Given the description of an element on the screen output the (x, y) to click on. 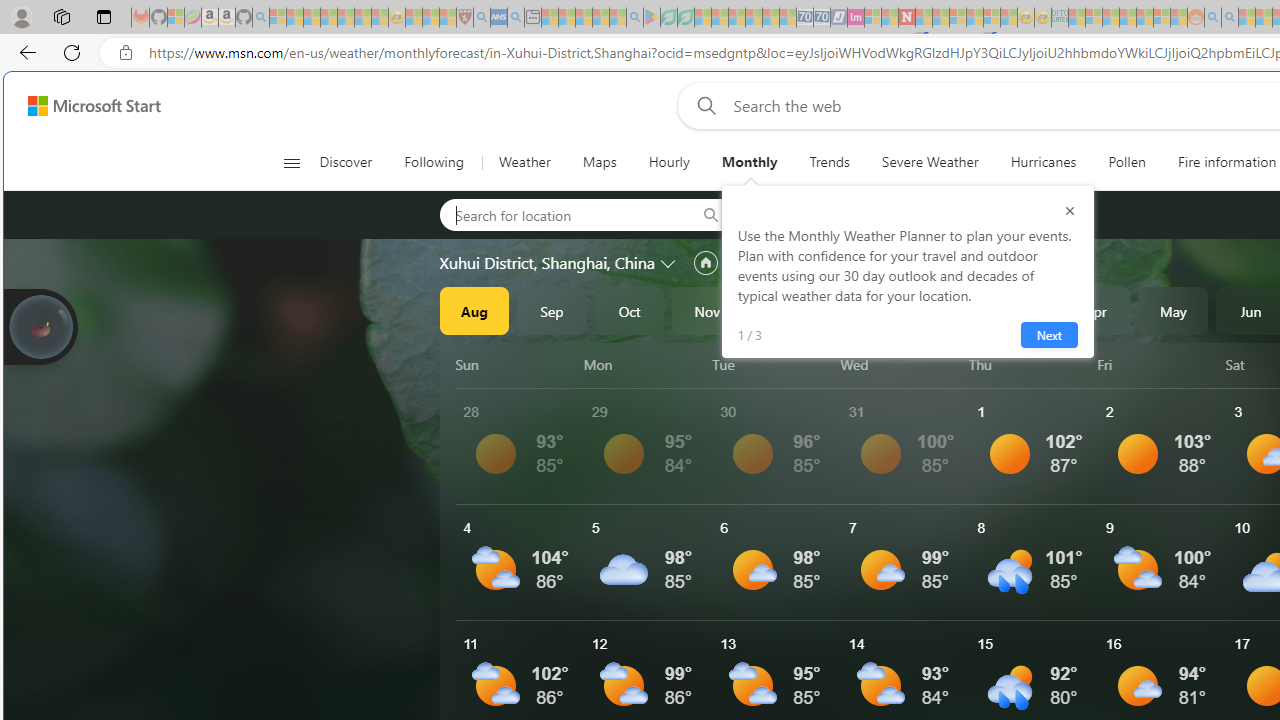
See More Details (1162, 561)
Cheap Hotels - Save70.com - Sleeping (821, 17)
Weather (524, 162)
Set as primary location (705, 263)
Hurricanes (1043, 162)
Trends (828, 162)
Join us in planting real trees to help our planet! (40, 325)
Class: button-glyph (290, 162)
